Given the description of an element on the screen output the (x, y) to click on. 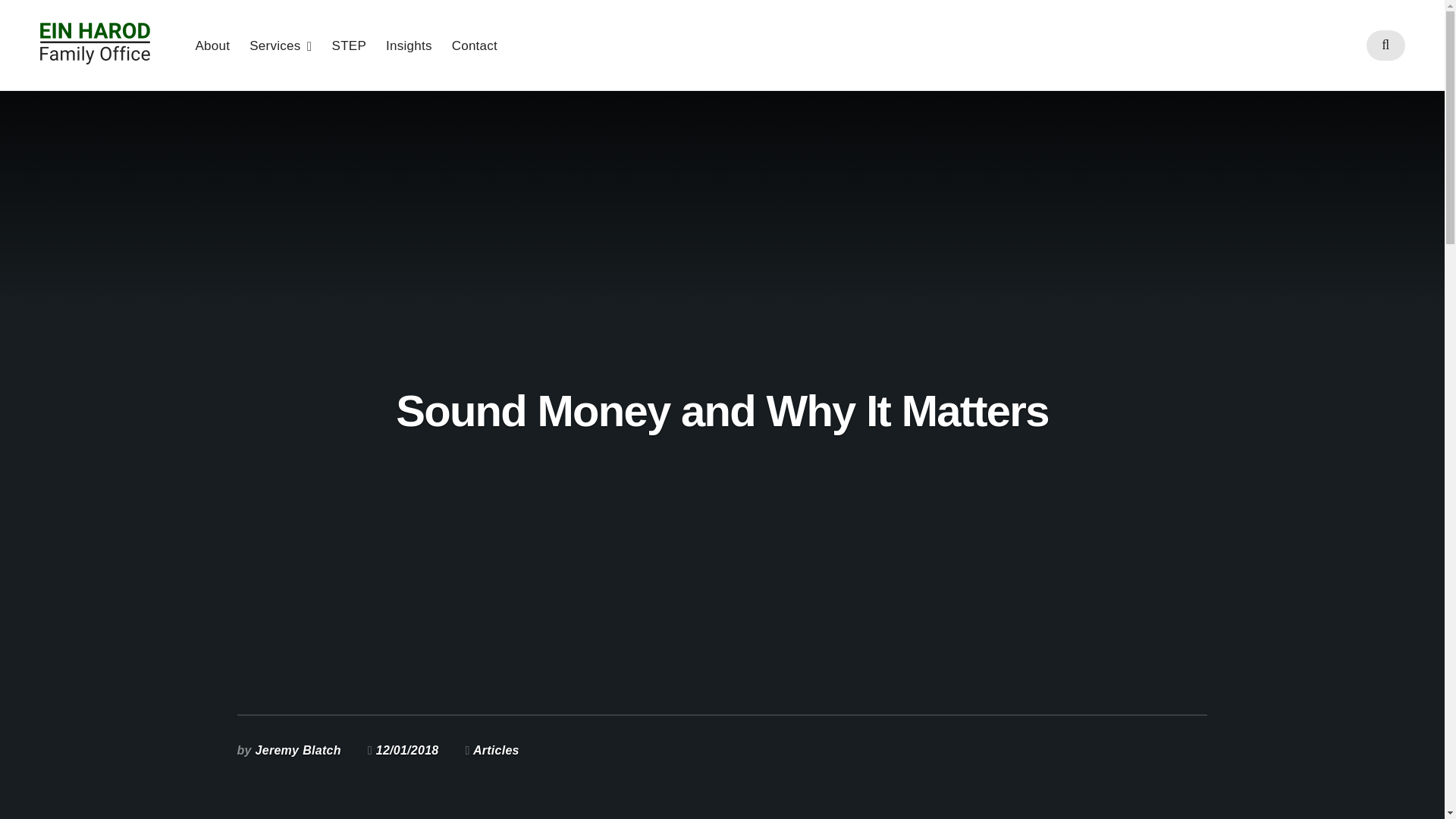
Contact (474, 44)
Articles (496, 749)
Search (721, 431)
Insights (408, 44)
STEP (348, 44)
Services (279, 44)
About (212, 44)
